Given the description of an element on the screen output the (x, y) to click on. 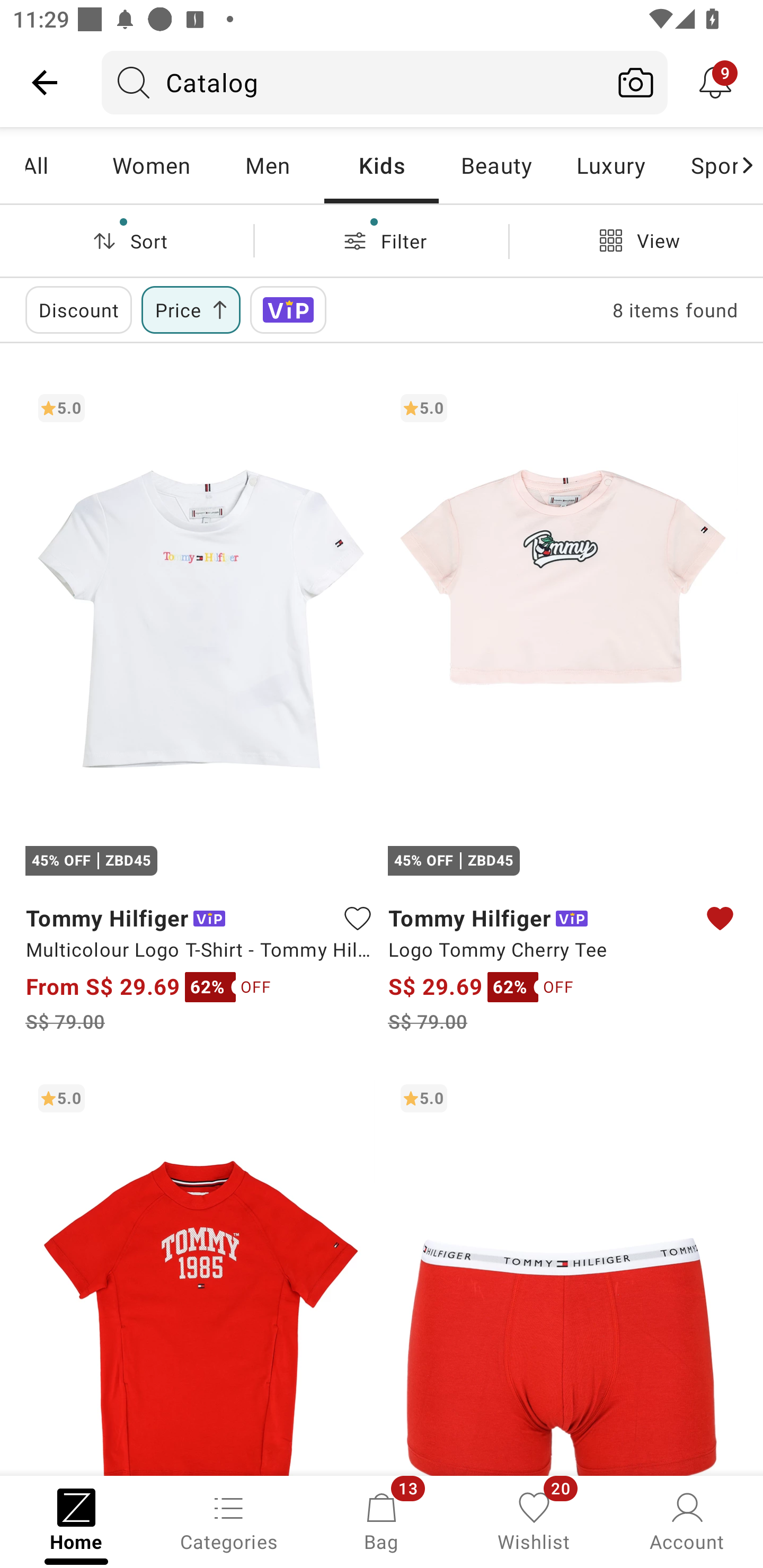
Navigate up (44, 82)
Catalog (352, 82)
All (59, 165)
Women (151, 165)
Men (266, 165)
Beauty (495, 165)
Luxury (610, 165)
Sports (702, 165)
Sort (126, 240)
Filter (381, 240)
View (636, 240)
Discount (78, 309)
Price (190, 309)
5.0 (200, 1272)
5.0 (562, 1272)
Categories (228, 1519)
Bag, 13 new notifications Bag (381, 1519)
Wishlist, 20 new notifications Wishlist (533, 1519)
Account (686, 1519)
